Given the description of an element on the screen output the (x, y) to click on. 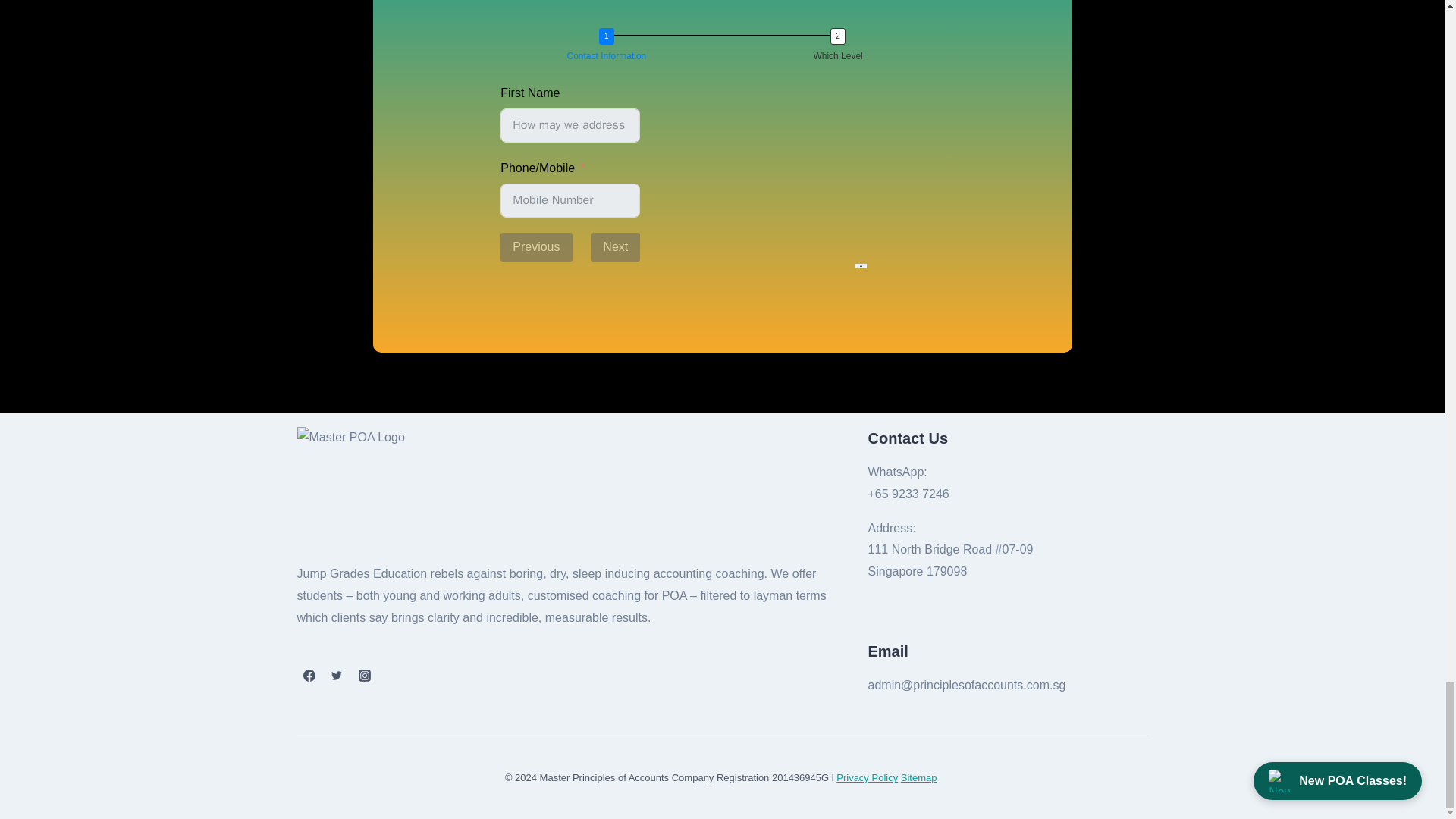
Unsure - please advise (505, 487)
1:1 Online Tuition with MPOA Instructor (505, 323)
Self-pace, Self-directed access to MPOA Portal (505, 370)
Blended Learning - combination of portal access and consult (505, 418)
